Given the description of an element on the screen output the (x, y) to click on. 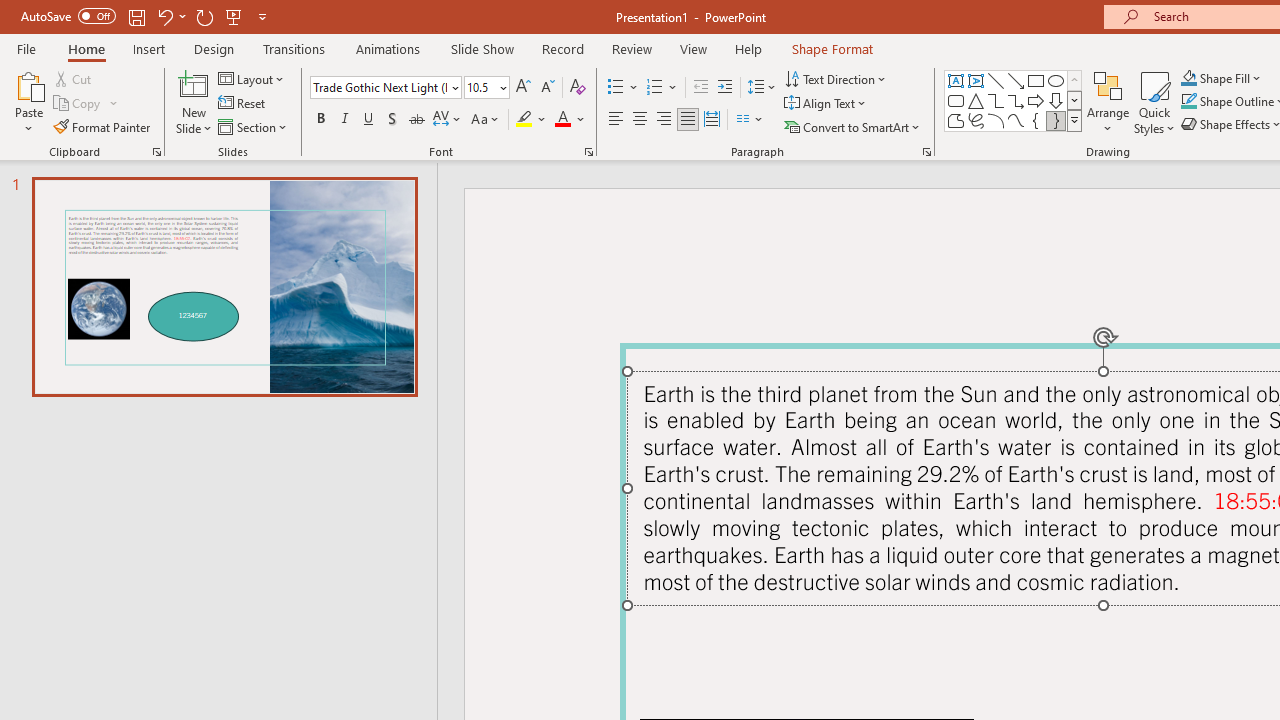
Distributed (712, 119)
Clear Formatting (577, 87)
Arrow: Right (1035, 100)
Arc (995, 120)
Increase Indent (725, 87)
Shape Fill (1221, 78)
Font Color Red (562, 119)
AutomationID: ShapesInsertGallery (1014, 100)
Shadow (392, 119)
Shapes (1074, 120)
